Given the description of an element on the screen output the (x, y) to click on. 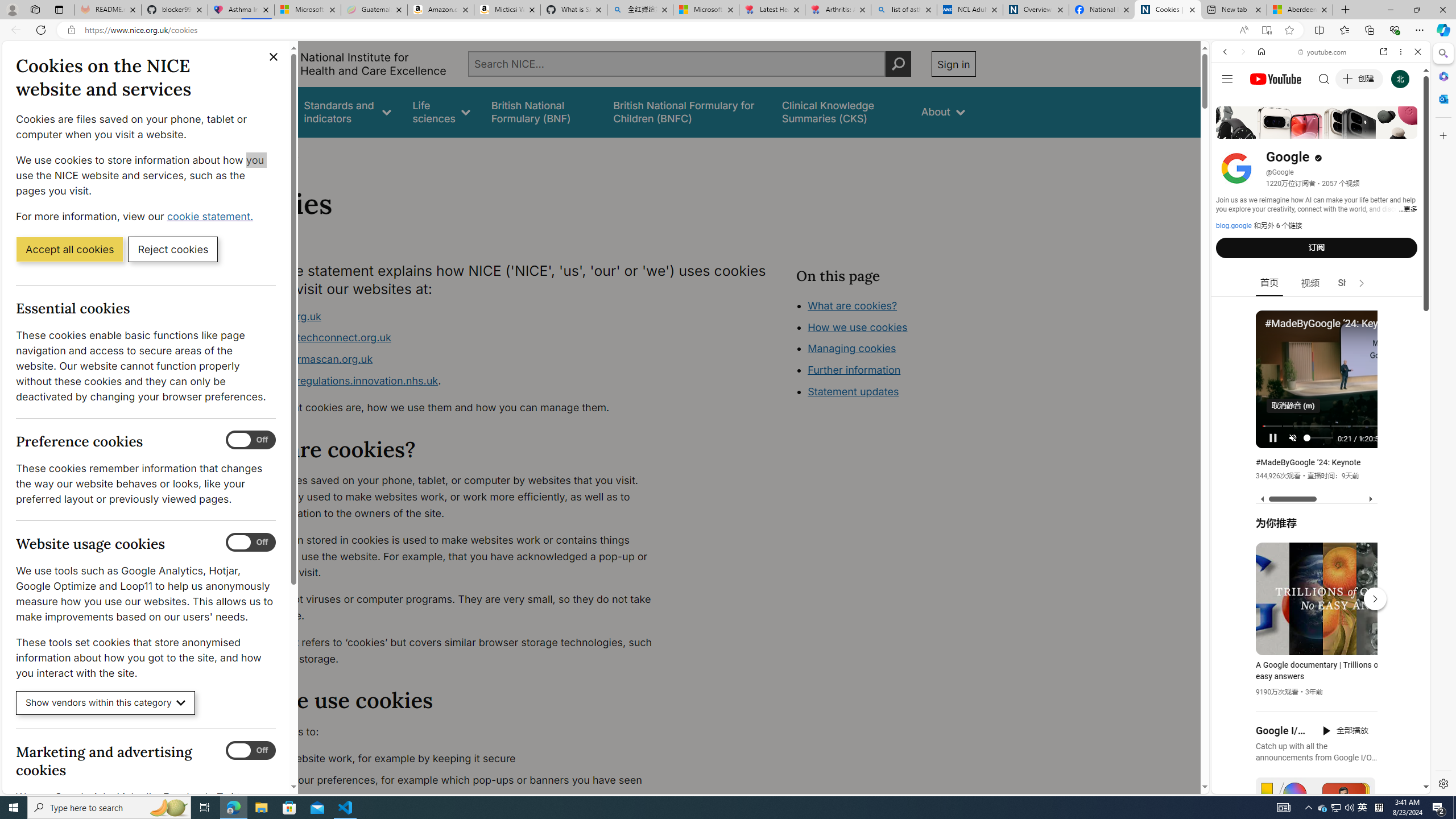
Address and search bar (658, 29)
Search Filter, WEB (1230, 129)
www.digitalregulations.innovation.nhs.uk (338, 380)
Guidance (260, 111)
Show vendors within this category (105, 703)
Search (1442, 53)
SEARCH TOOLS (1350, 130)
#you (1320, 253)
